Given the description of an element on the screen output the (x, y) to click on. 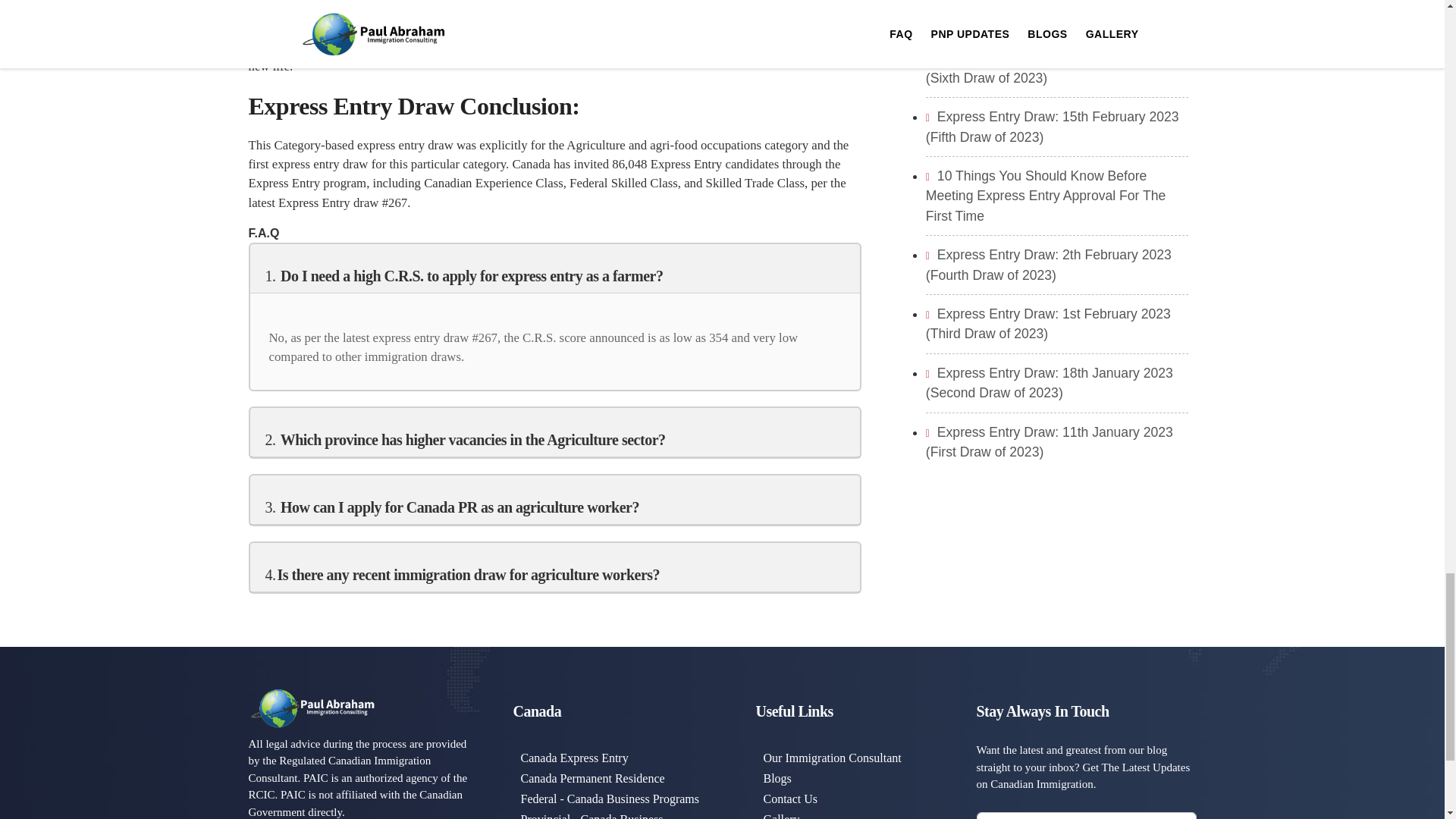
3. How can I apply for Canada PR as an agriculture worker? (451, 506)
